Given the description of an element on the screen output the (x, y) to click on. 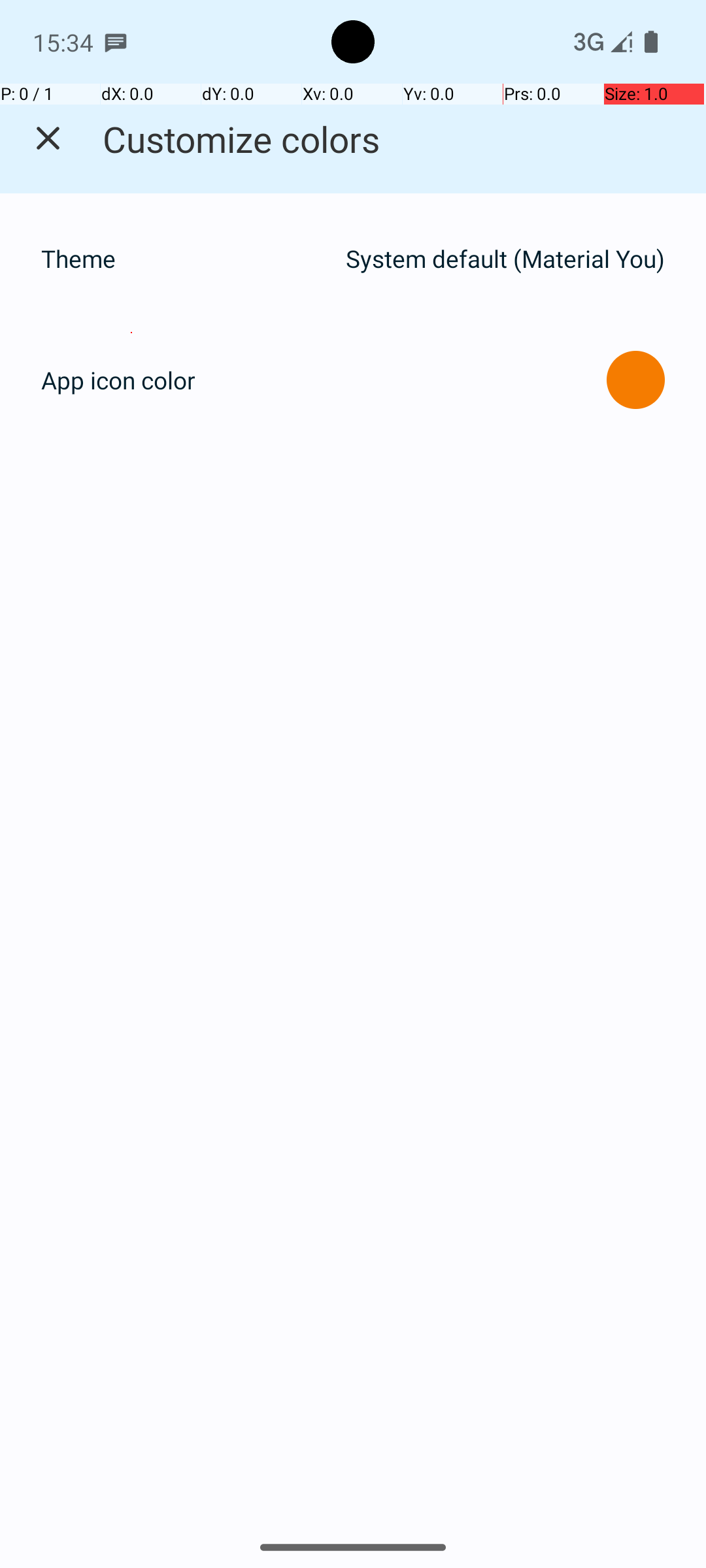
System default (Material You) Element type: android.widget.TextView (504, 258)
App icon color Element type: android.widget.TextView (118, 379)
